Given the description of an element on the screen output the (x, y) to click on. 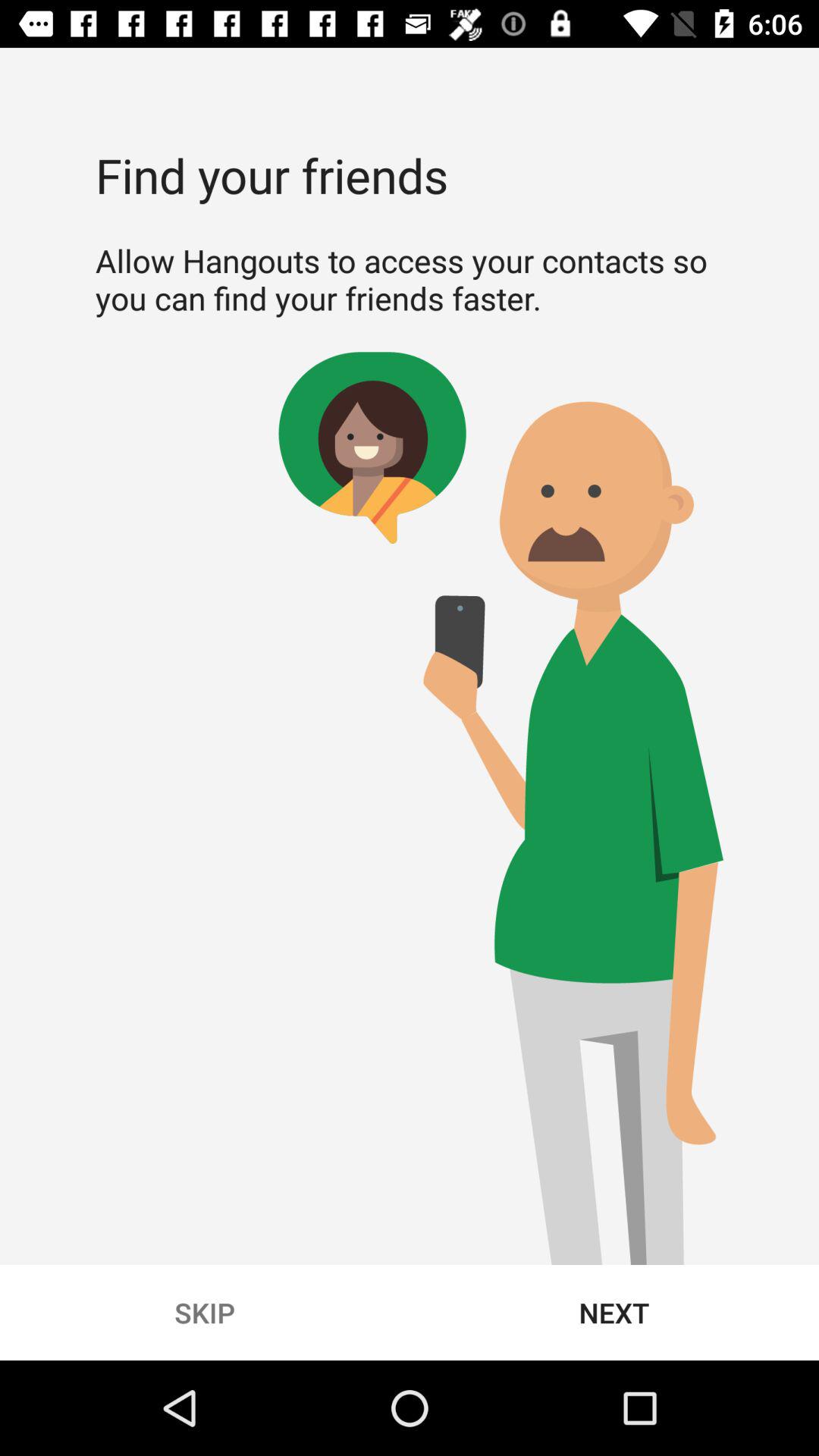
select the skip button (204, 1312)
